Given the description of an element on the screen output the (x, y) to click on. 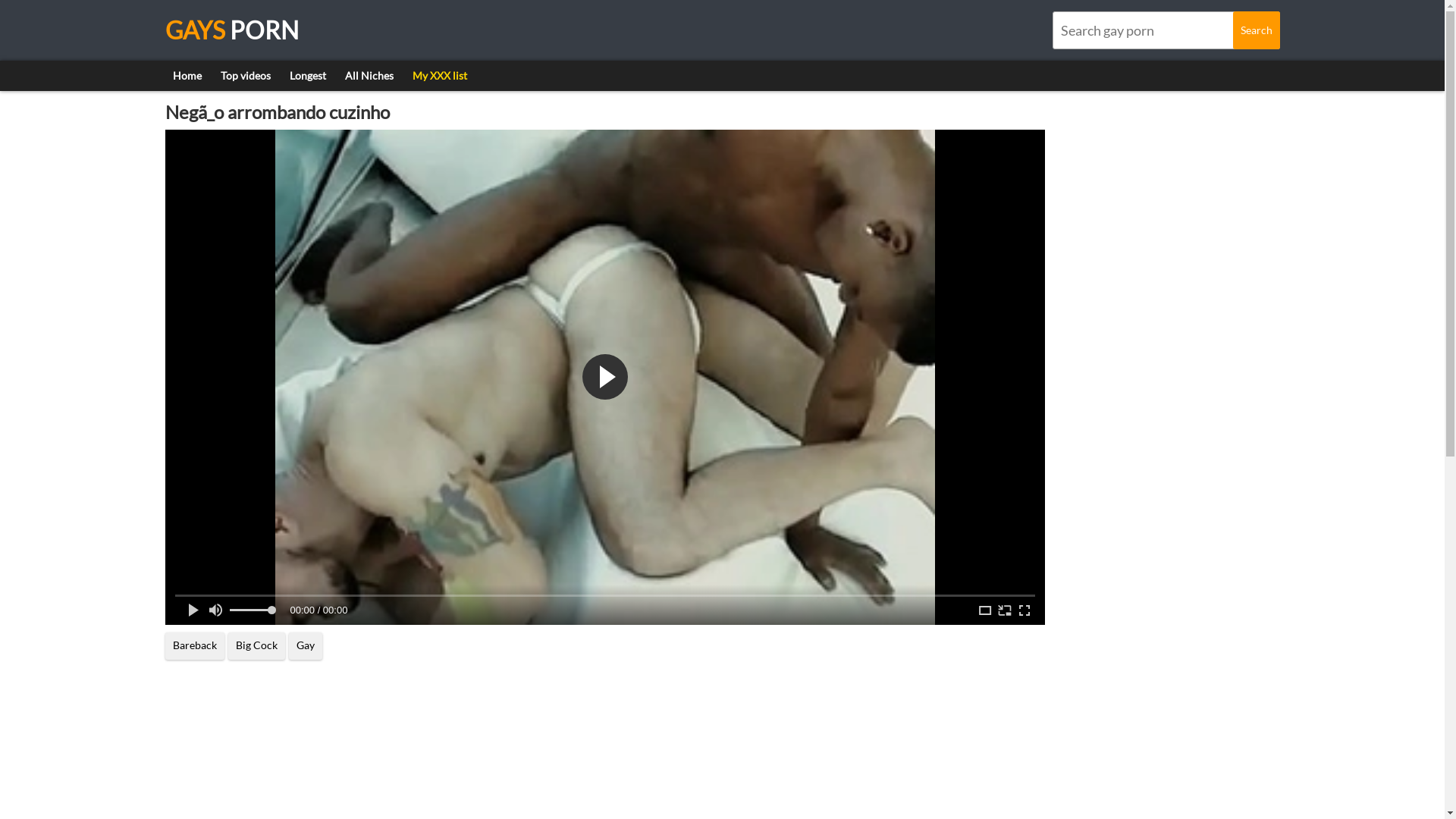
All Niches Element type: text (368, 75)
Search Element type: text (1256, 30)
Big Cock Element type: text (255, 645)
Top videos Element type: text (244, 75)
Bareback Element type: text (194, 645)
GAYS PORN Element type: text (231, 30)
My XXX list Element type: text (439, 75)
Home Element type: text (187, 75)
Gay Element type: text (304, 645)
Longest Element type: text (307, 75)
